Given the description of an element on the screen output the (x, y) to click on. 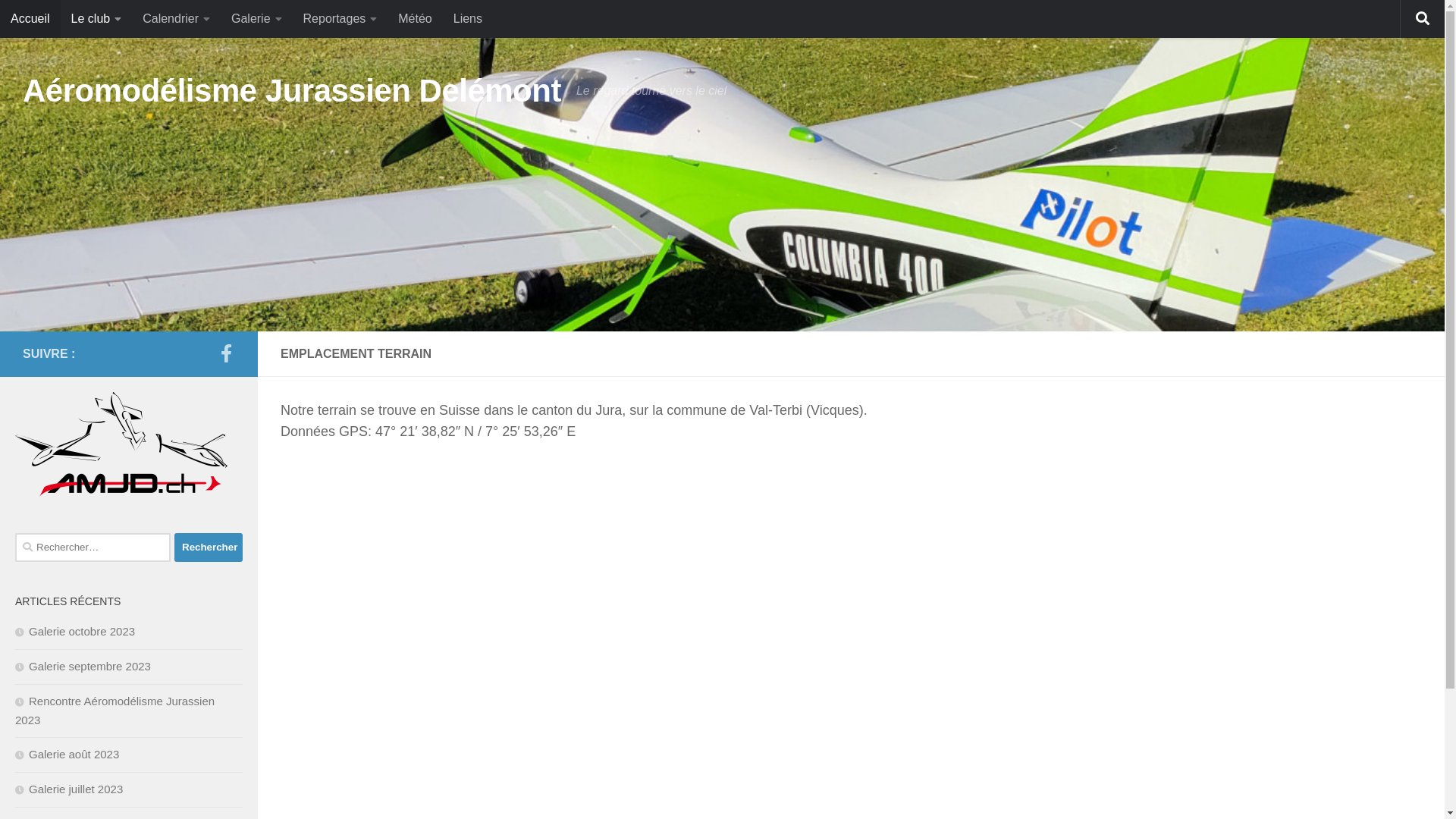
Galerie octobre 2023 Element type: text (74, 630)
Galerie septembre 2023 Element type: text (82, 665)
Accueil Element type: text (30, 18)
Skip to content Element type: text (64, 20)
Liens Element type: text (467, 18)
Rechercher Element type: text (208, 547)
Suivez-nous sur Facebook Element type: hover (225, 353)
Galerie juillet 2023 Element type: text (68, 788)
Calendrier Element type: text (175, 18)
Galerie Element type: text (256, 18)
Reportages Element type: text (340, 18)
Le club Element type: text (96, 18)
